Given the description of an element on the screen output the (x, y) to click on. 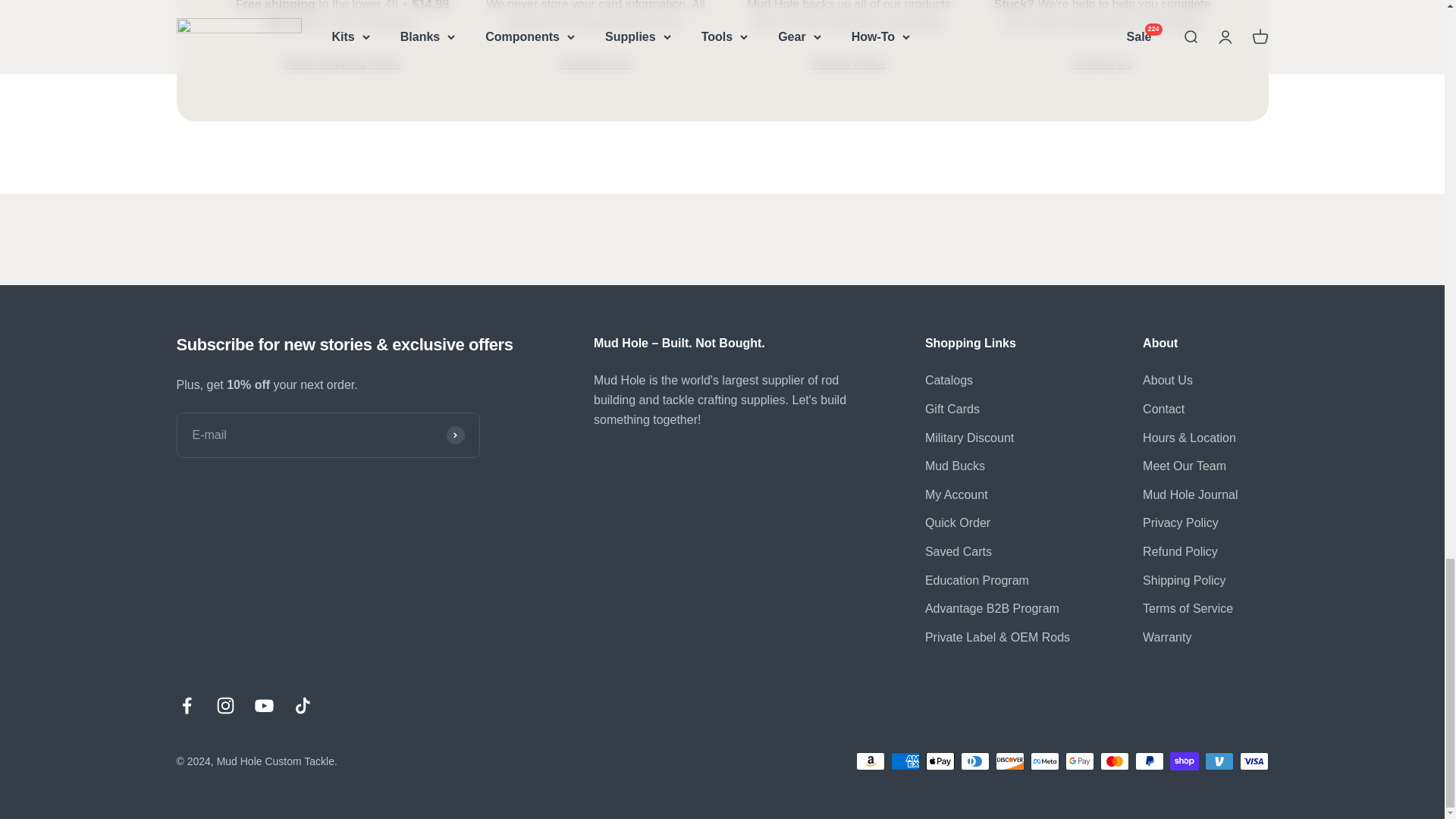
Shipping Policy (342, 62)
Terms of Service (594, 72)
Refund Policy (848, 72)
Contact Us (1101, 72)
